Given the description of an element on the screen output the (x, y) to click on. 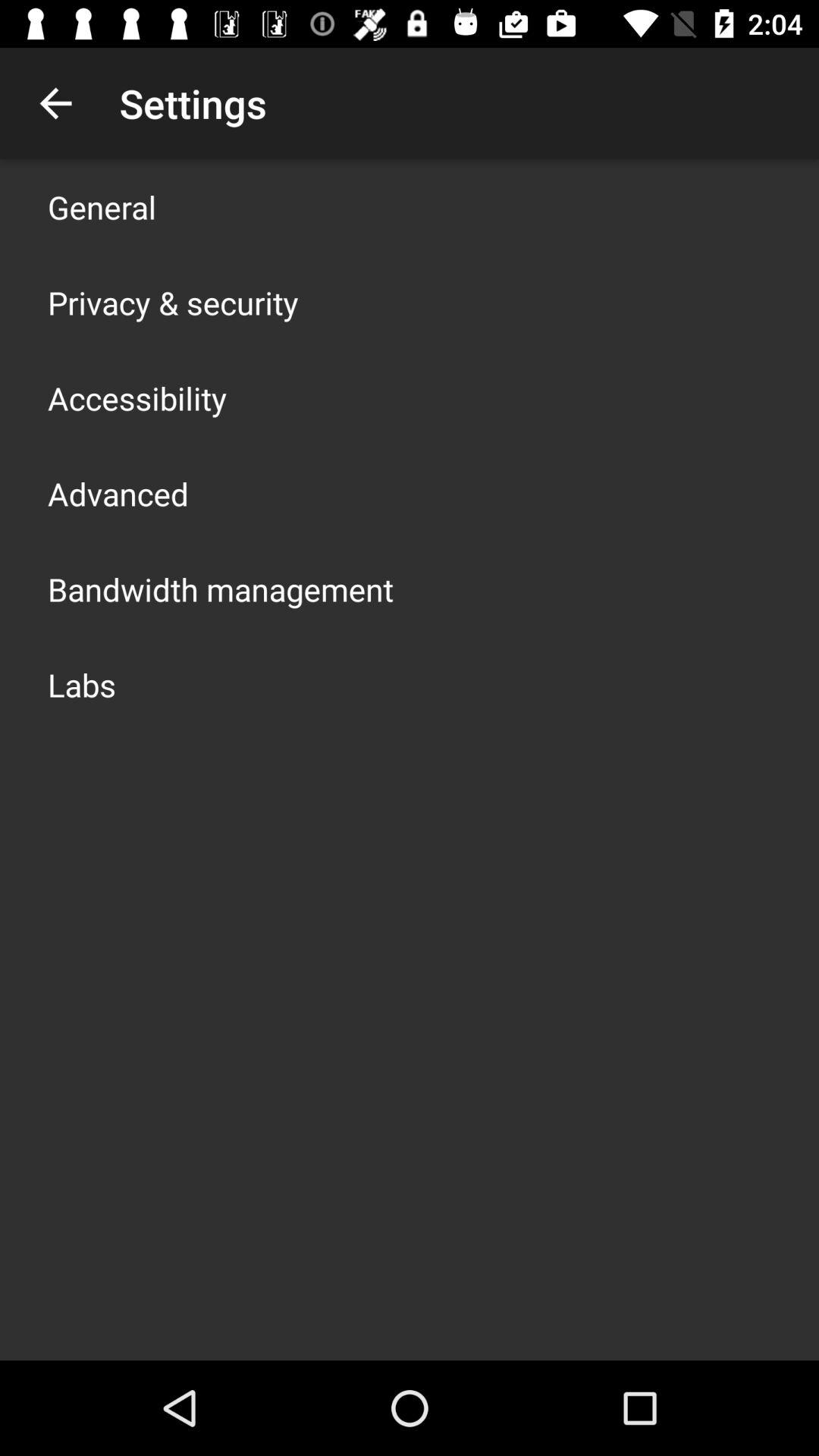
choose app next to settings (55, 103)
